Given the description of an element on the screen output the (x, y) to click on. 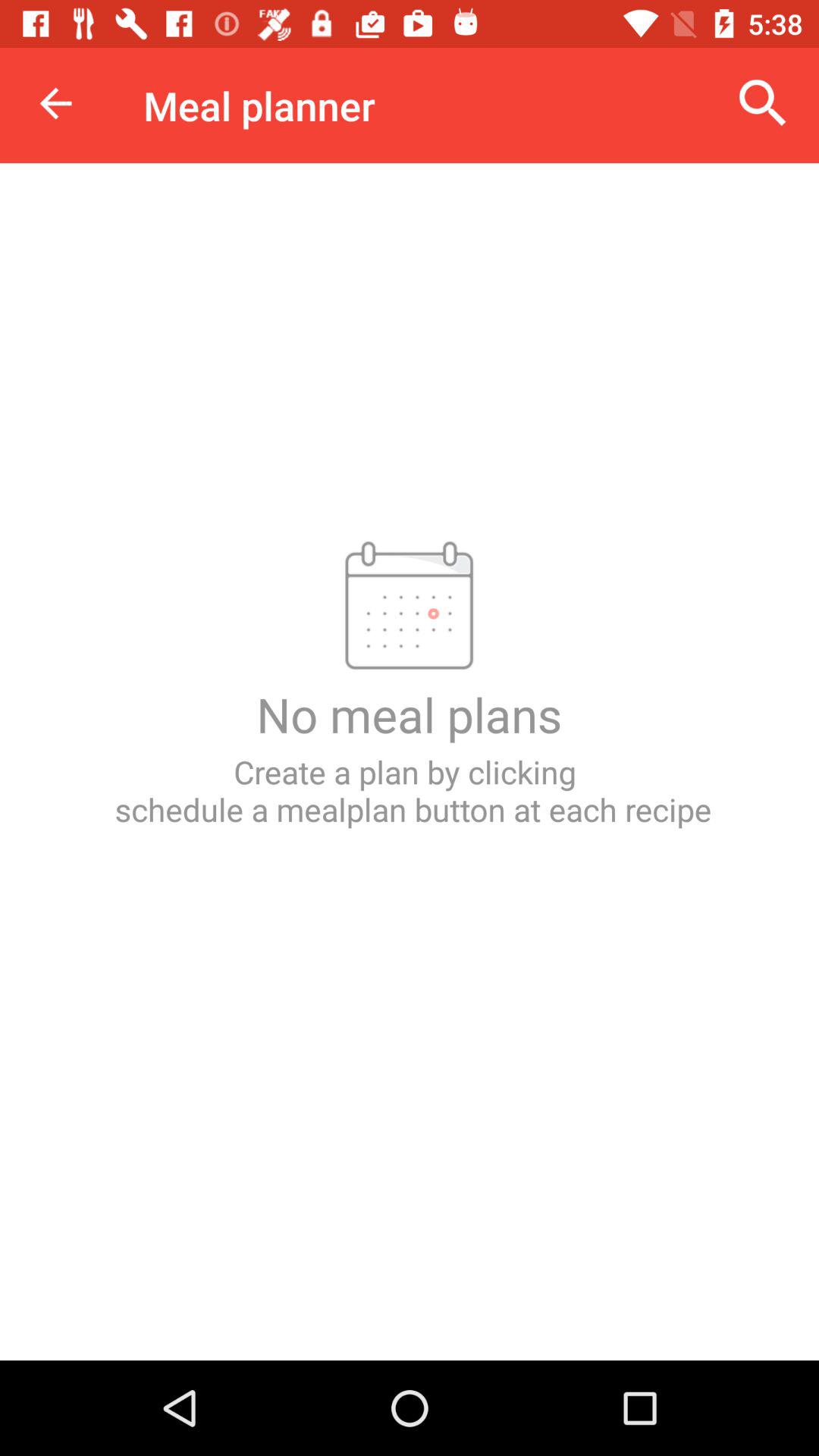
tap item next to the meal planner icon (763, 103)
